Given the description of an element on the screen output the (x, y) to click on. 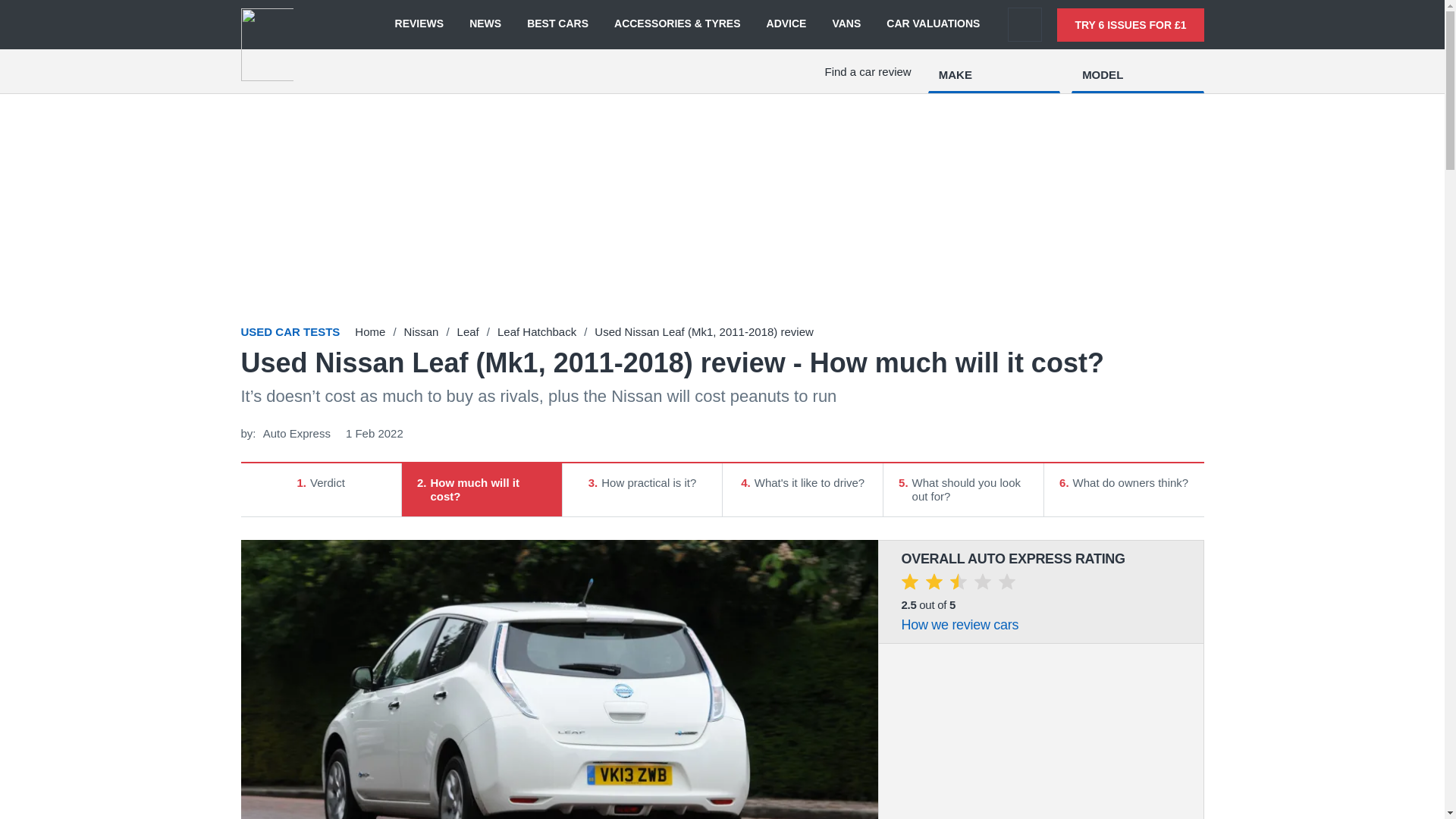
VANS (845, 24)
CAR VALUATIONS (932, 24)
Search (1024, 24)
BEST CARS (557, 24)
REVIEWS (419, 24)
Search (1024, 24)
ADVICE (786, 24)
2.5 Stars (957, 584)
NEWS (485, 24)
